Given the description of an element on the screen output the (x, y) to click on. 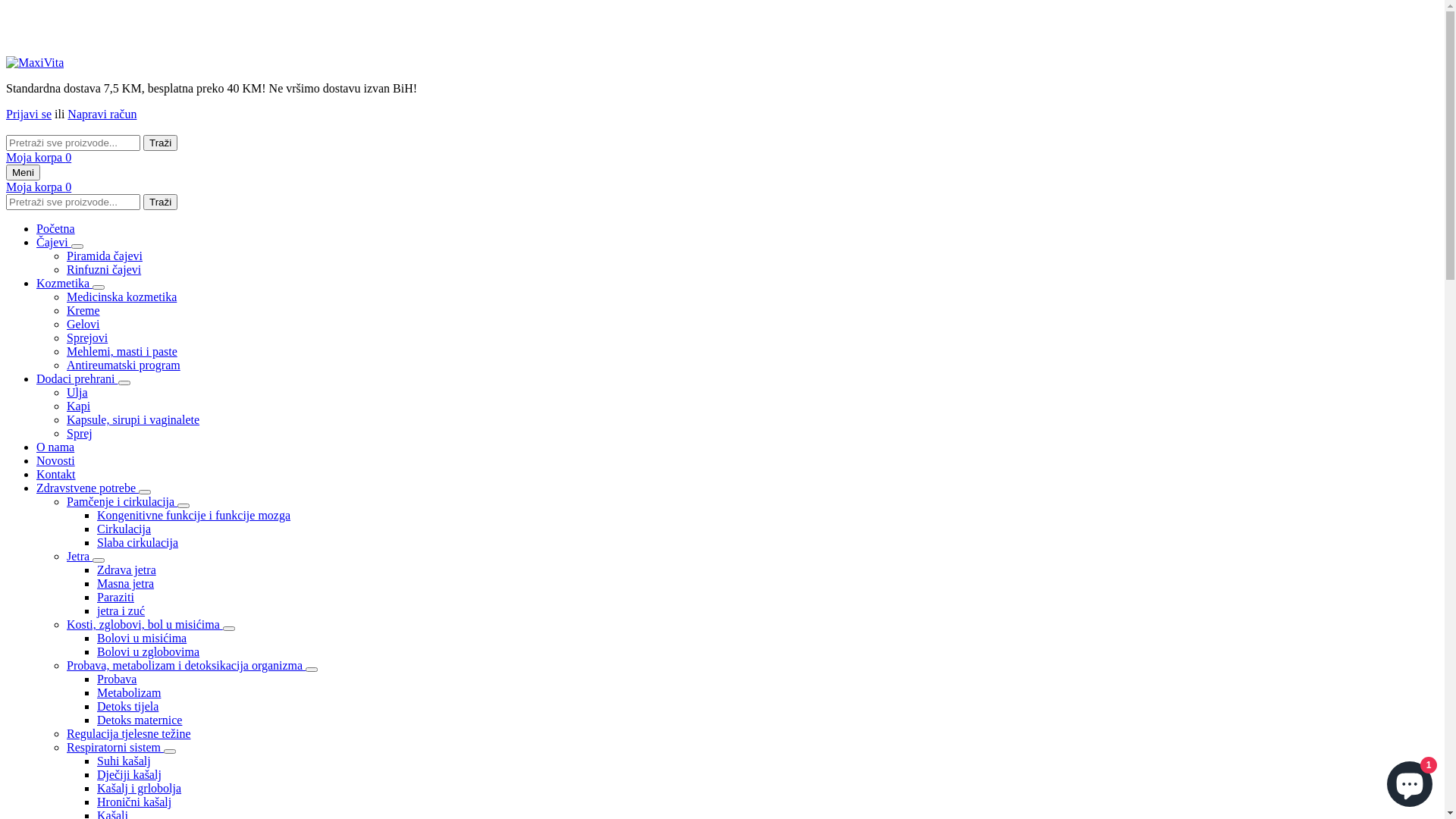
Bolovi u zglobovima Element type: text (148, 651)
Respiratorni sistem Element type: text (114, 746)
Sprejovi Element type: text (86, 337)
Metabolizam Element type: text (128, 692)
O nama Element type: text (55, 446)
Detoks maternice Element type: text (139, 719)
Masna jetra Element type: text (125, 583)
Shopify online store chat Element type: hover (1409, 780)
Meni Element type: text (23, 172)
Kapsule, sirupi i vaginalete Element type: text (132, 419)
Prijavi se Element type: text (28, 113)
Kongenitivne funkcije i funkcije mozga Element type: text (193, 514)
Probava, metabolizam i detoksikacija organizma Element type: text (185, 664)
Moja korpa 0 Element type: text (38, 156)
Novosti Element type: text (55, 460)
Zdrava jetra Element type: text (126, 569)
Moja korpa 0 Element type: text (38, 186)
Zdravstvene potrebe Element type: text (87, 487)
Sprej Element type: text (79, 432)
Mehlemi, masti i paste Element type: text (121, 351)
Ulja Element type: text (76, 391)
Detoks tijela Element type: text (127, 705)
Kreme Element type: text (83, 310)
Gelovi Element type: text (83, 323)
Cirkulacija Element type: text (123, 528)
Medicinska kozmetika Element type: text (121, 296)
Dodaci prehrani Element type: text (77, 378)
Antireumatski program Element type: text (123, 364)
Paraziti Element type: text (115, 596)
Probava Element type: text (116, 678)
Kozmetika Element type: text (64, 282)
Slaba cirkulacija Element type: text (137, 542)
Kontakt Element type: text (55, 473)
Jetra Element type: text (79, 555)
Kapi Element type: text (78, 405)
